Given the description of an element on the screen output the (x, y) to click on. 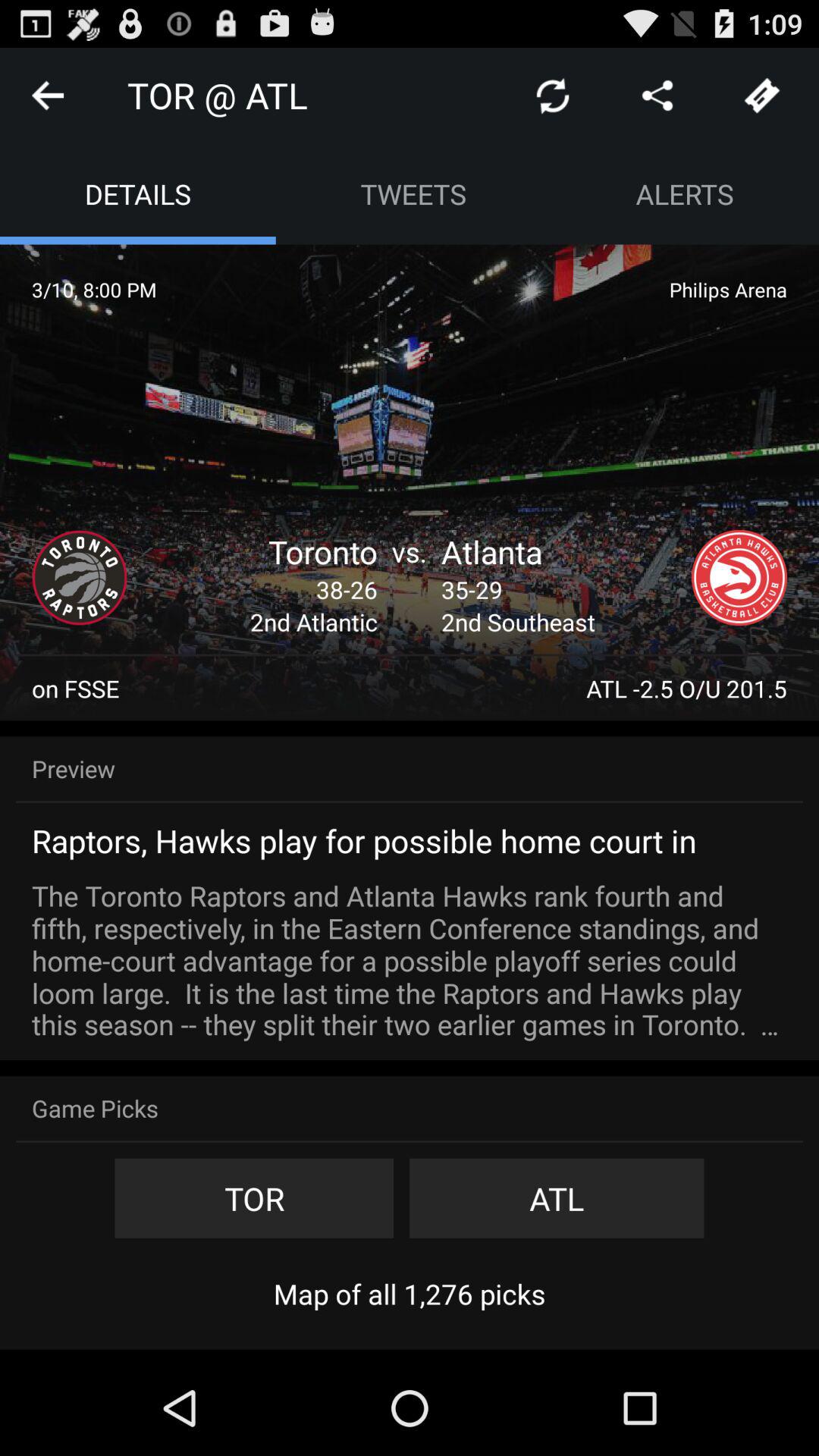
select icon below the tor (409, 1293)
